Given the description of an element on the screen output the (x, y) to click on. 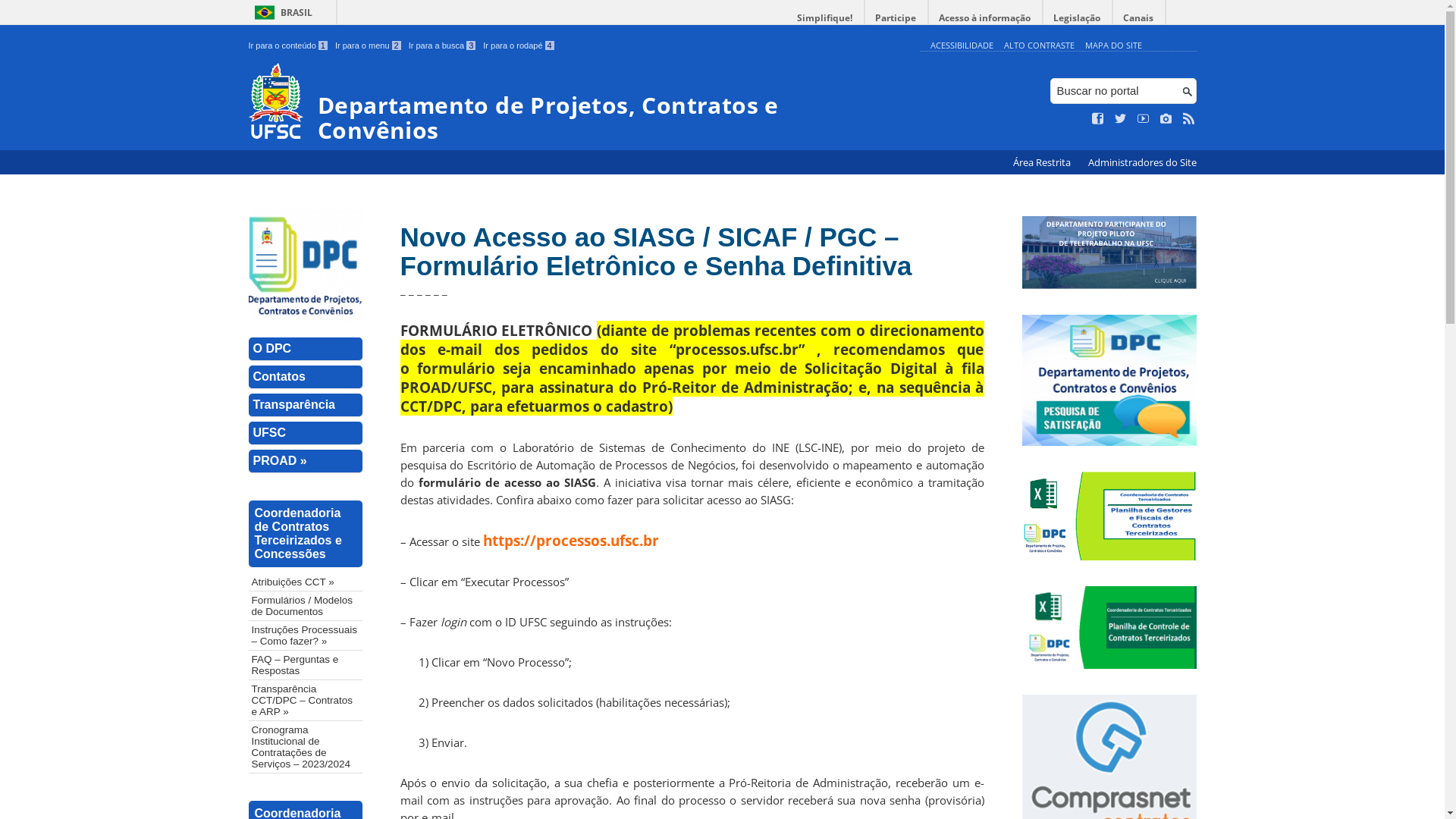
Curta no Facebook Element type: hover (1098, 118)
Canais Element type: text (1138, 18)
Ir para a busca 3 Element type: text (442, 45)
Contatos Element type: text (305, 377)
BRASIL Element type: text (280, 12)
ACESSIBILIDADE Element type: text (960, 44)
Ir para o menu 2 Element type: text (368, 45)
Siga no Twitter Element type: hover (1120, 118)
MAPA DO SITE Element type: text (1112, 44)
Simplifique! Element type: text (825, 18)
ALTO CONTRASTE Element type: text (1039, 44)
UFSC Element type: text (305, 433)
Administradores do Site Element type: text (1141, 162)
Participe Element type: text (895, 18)
O DPC Element type: text (305, 348)
https://processos.ufsc.br Element type: text (570, 539)
Veja no Instagram Element type: hover (1166, 118)
